Given the description of an element on the screen output the (x, y) to click on. 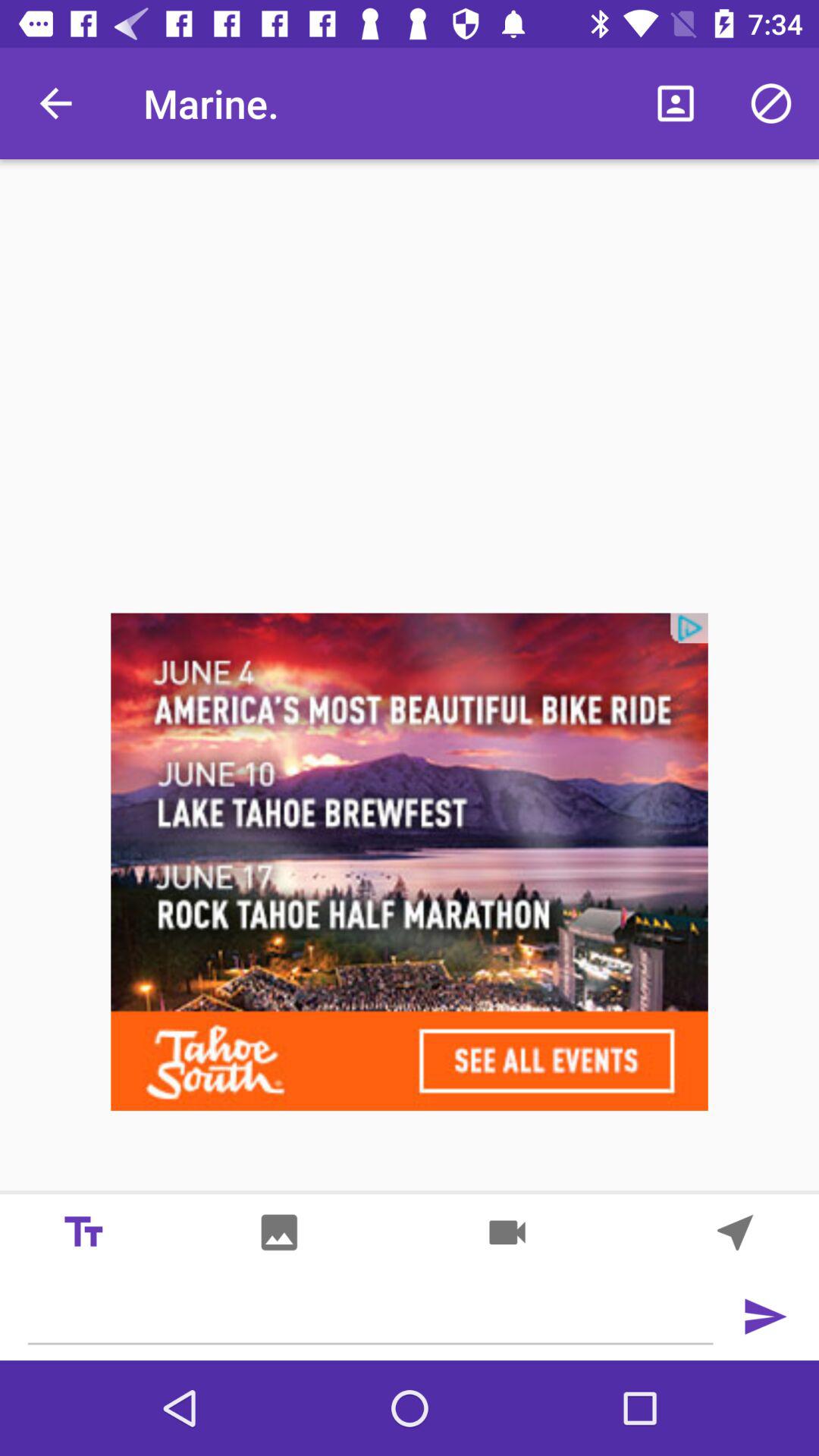
go to next option (735, 1232)
